Given the description of an element on the screen output the (x, y) to click on. 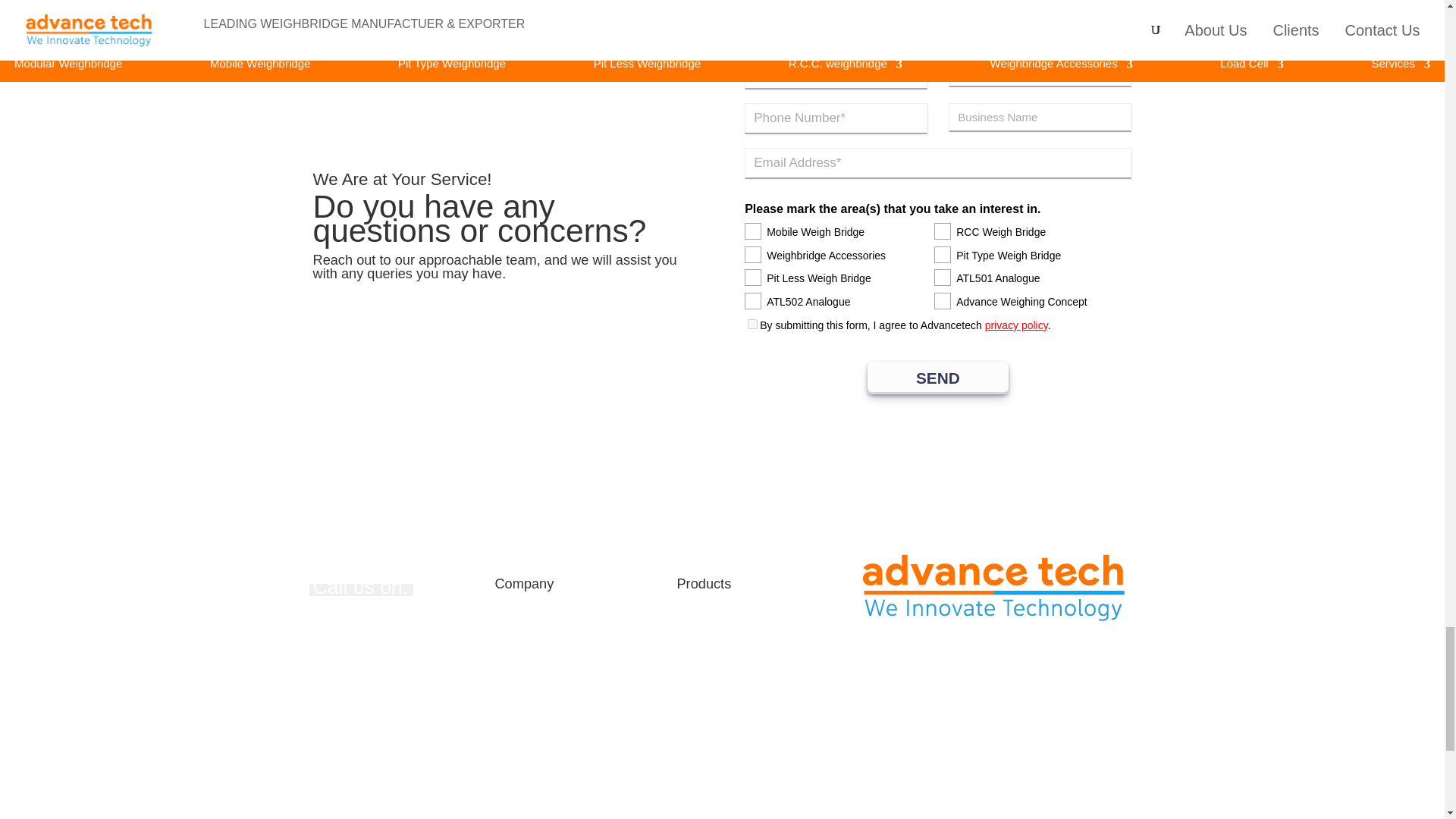
Follow on WhatsApp (930, 787)
Send (938, 377)
Follow on Instagram (961, 787)
Follow on Facebook (870, 787)
Follow on X (900, 787)
Advantech Weighbridge (994, 587)
1 (752, 324)
